Given the description of an element on the screen output the (x, y) to click on. 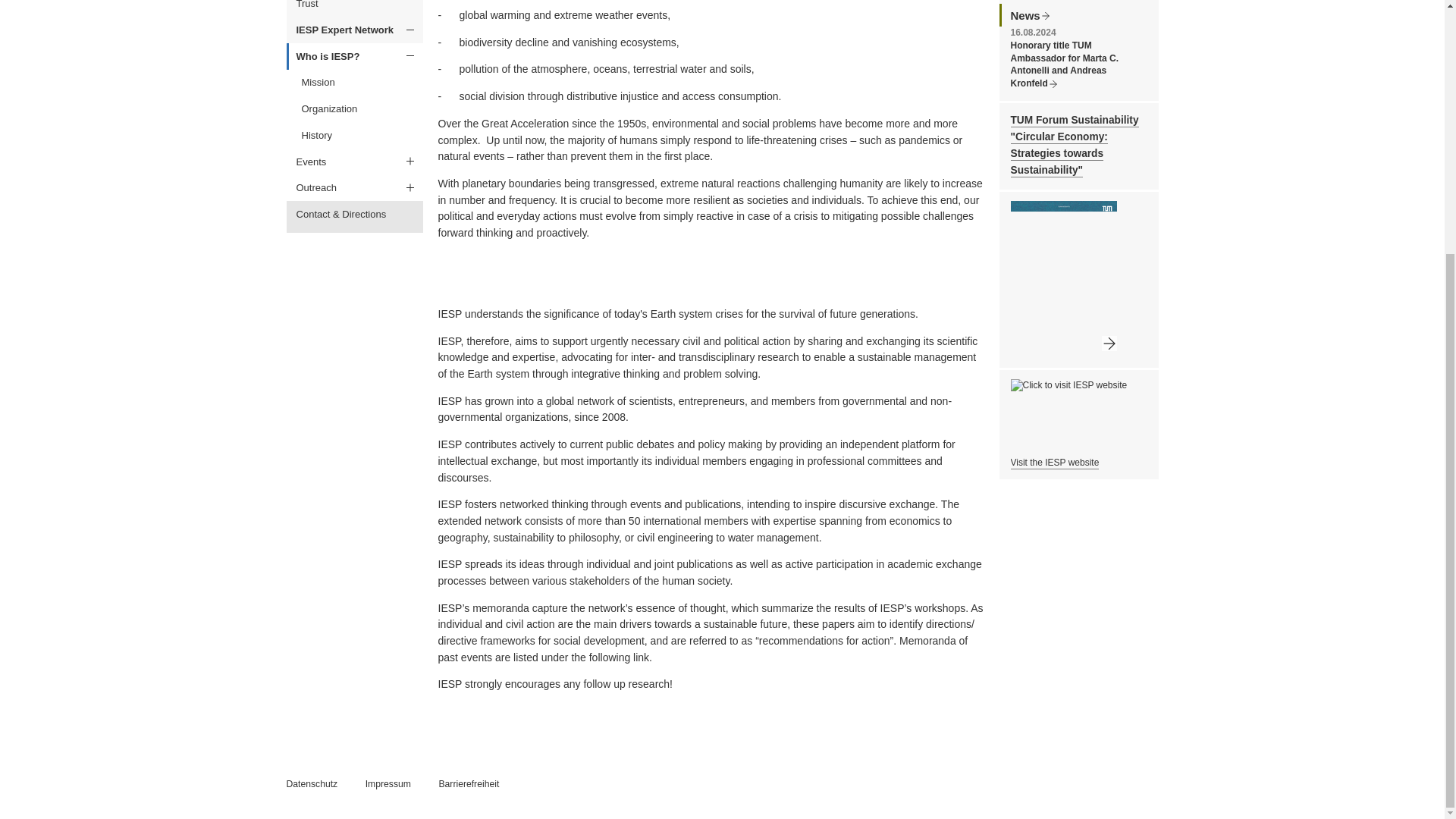
Visit the IESP website (1054, 463)
Mission (356, 82)
Logo of IESP with text (1123, 413)
Organization (356, 109)
Outreach (354, 188)
News (1029, 15)
History (356, 135)
Nobel Sustainability Trust (354, 8)
